Given the description of an element on the screen output the (x, y) to click on. 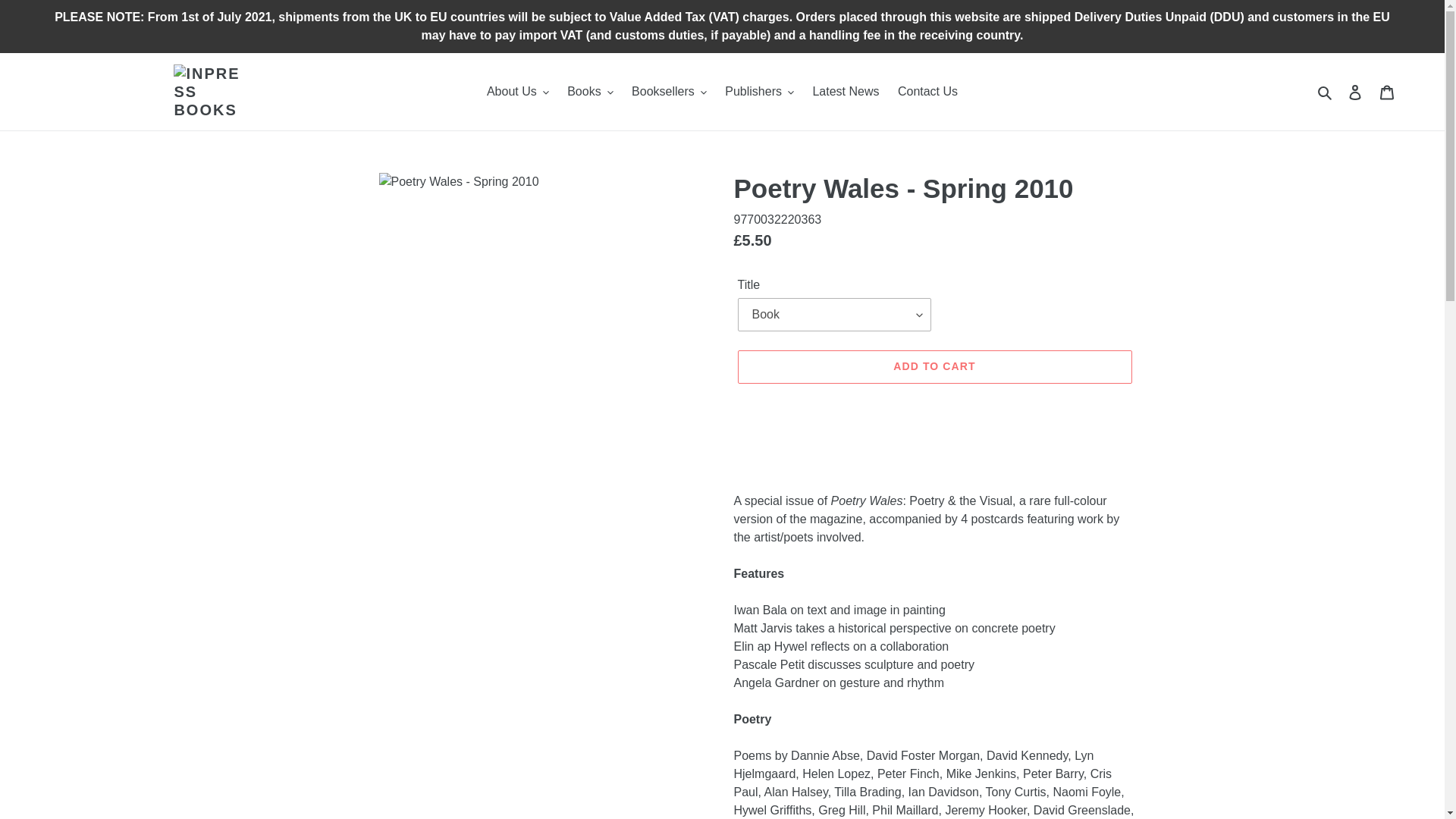
Publishers (759, 91)
Latest News (845, 91)
Booksellers (669, 91)
Books (589, 91)
About Us (517, 91)
